Given the description of an element on the screen output the (x, y) to click on. 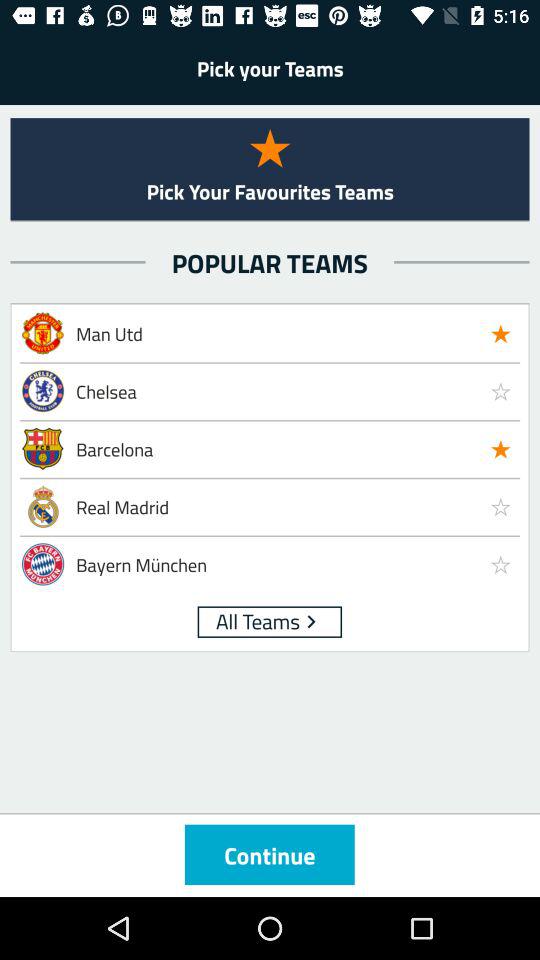
jump until all teams item (258, 620)
